Given the description of an element on the screen output the (x, y) to click on. 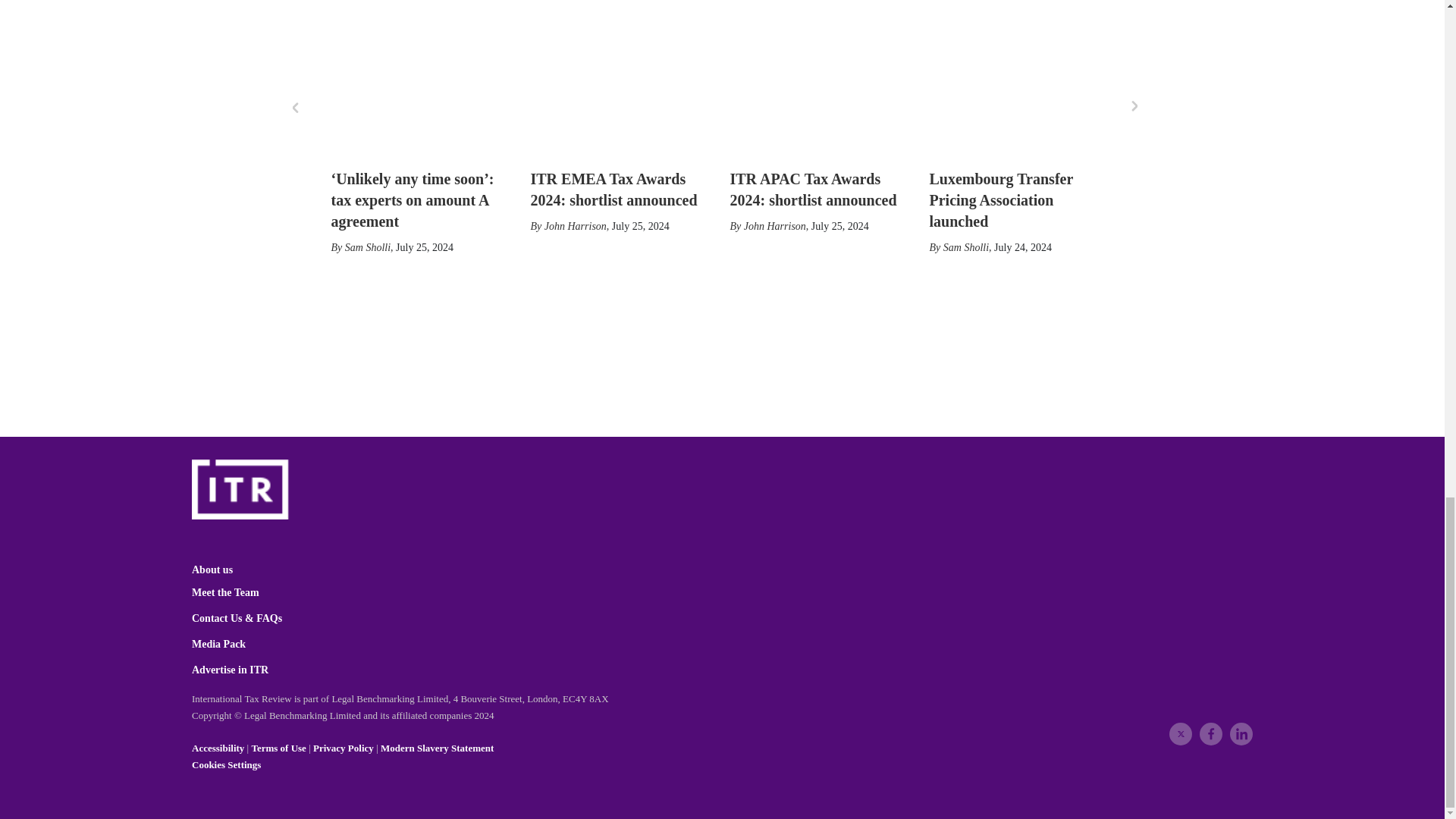
3rd party ad content (714, 341)
